Given the description of an element on the screen output the (x, y) to click on. 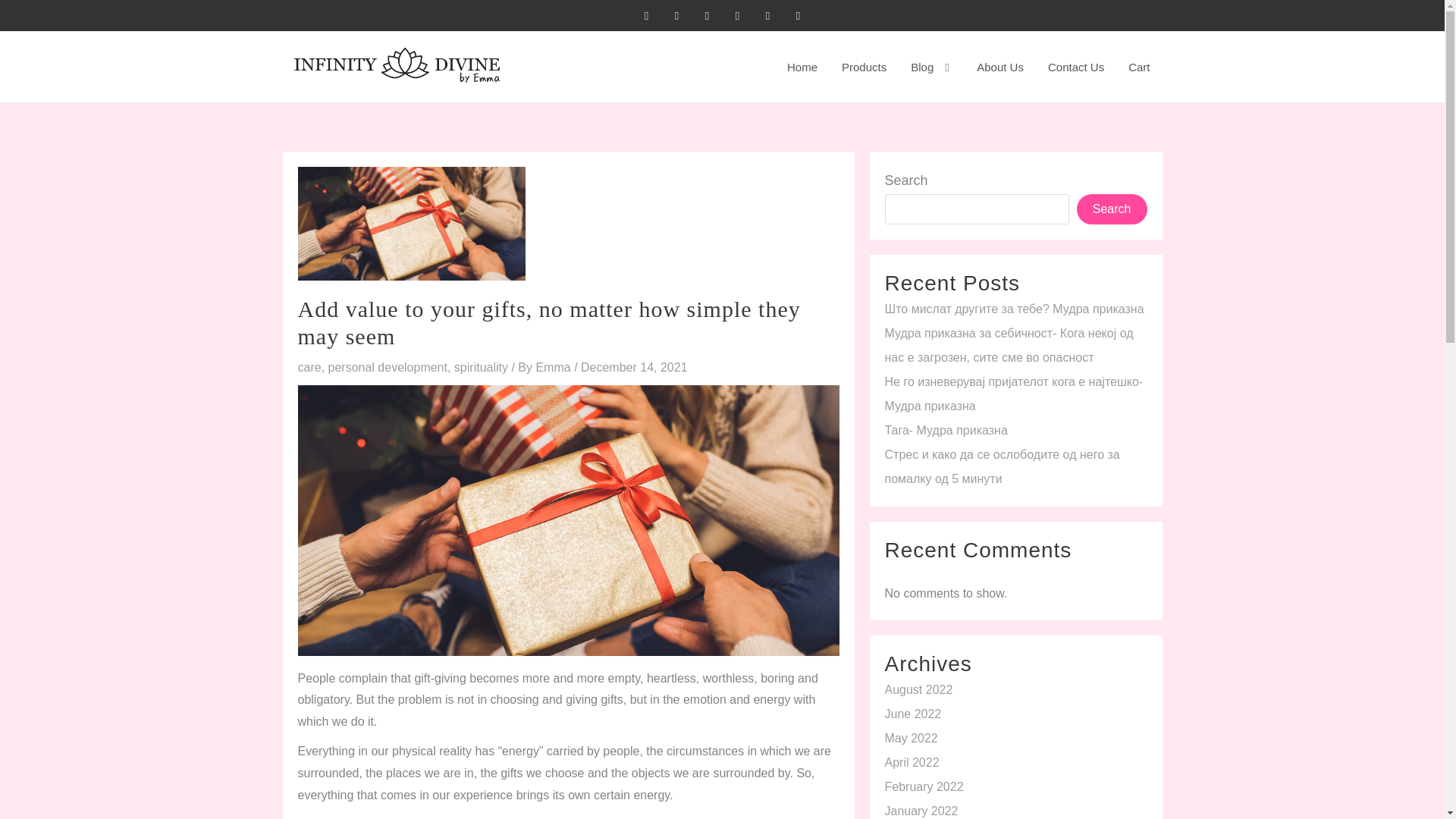
care (308, 367)
Emma (554, 367)
About Us (999, 66)
Cart (1138, 66)
spirituality (481, 367)
Contact Us (1075, 66)
Blog (930, 66)
Products (863, 66)
Search (1112, 209)
View all posts by Emma (554, 367)
